Given the description of an element on the screen output the (x, y) to click on. 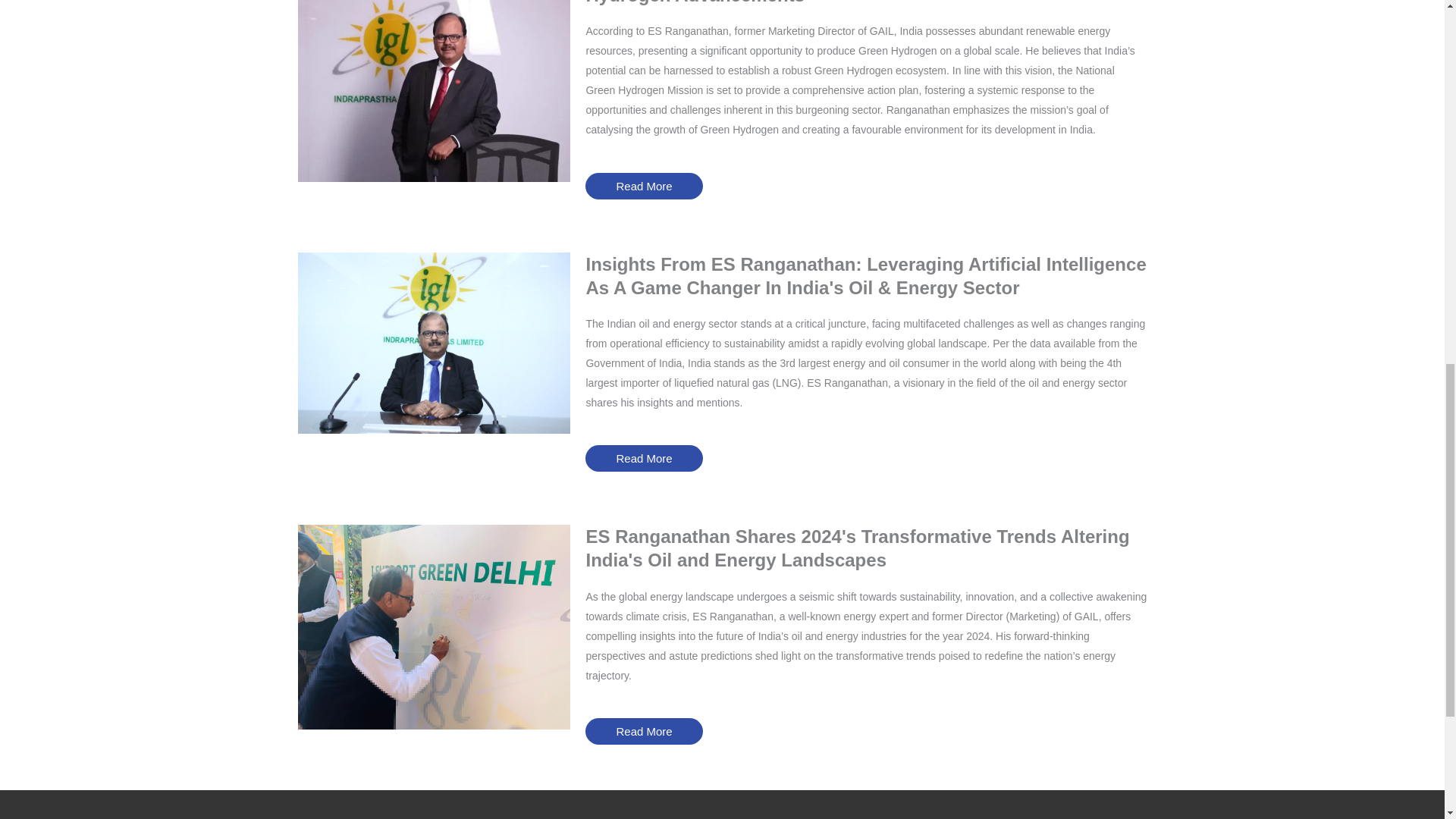
Read More (643, 185)
Read More (643, 458)
Read More (643, 731)
